Given the description of an element on the screen output the (x, y) to click on. 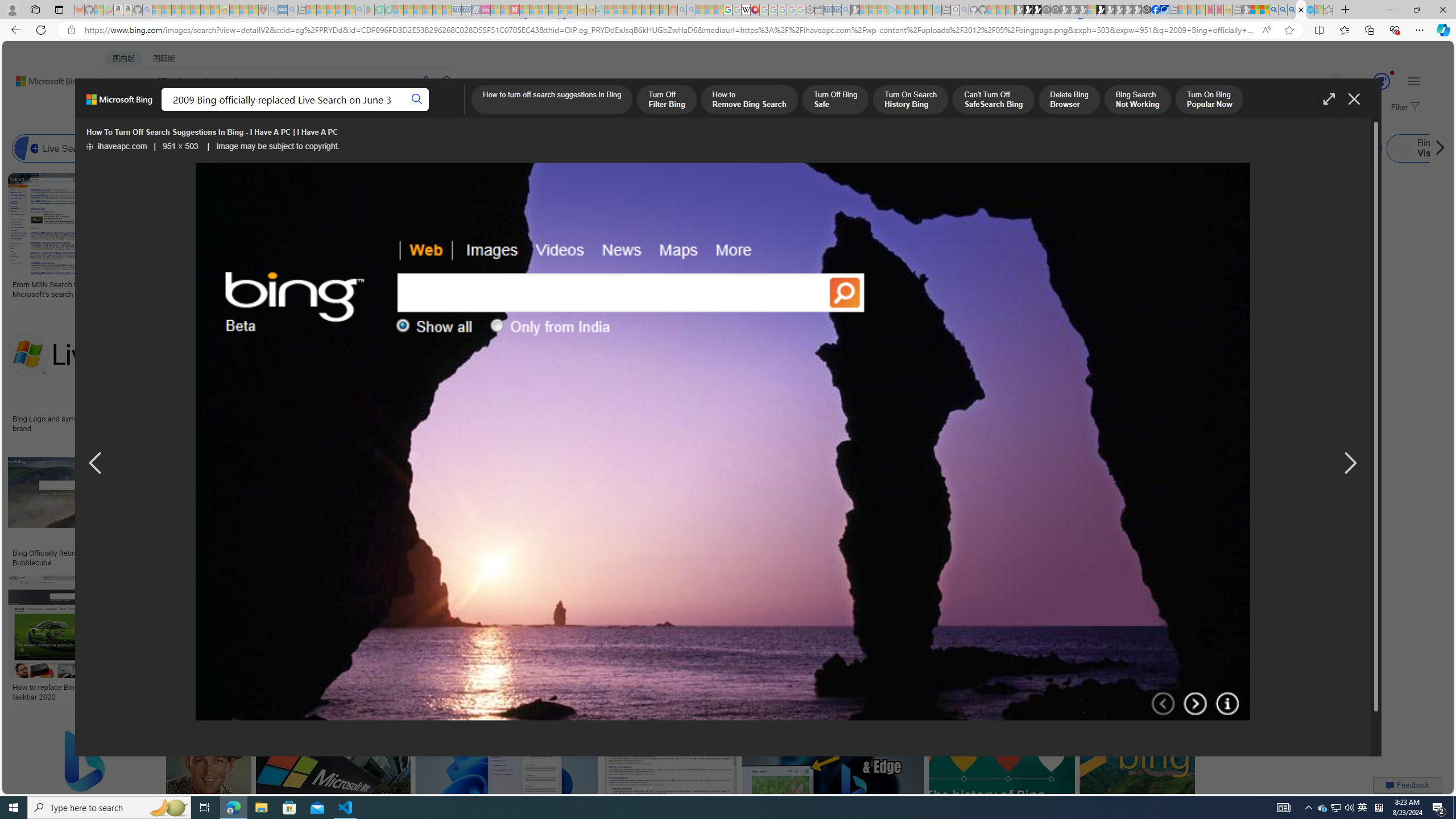
microsoft bingSave (1045, 371)
14 Common Myths Debunked By Scientific Facts - Sleeping (533, 9)
Technology History timeline | Timetoast timelines (833, 289)
IMAGES (205, 111)
How to Remove Bing Search (748, 100)
Eugene (1319, 81)
